Given the description of an element on the screen output the (x, y) to click on. 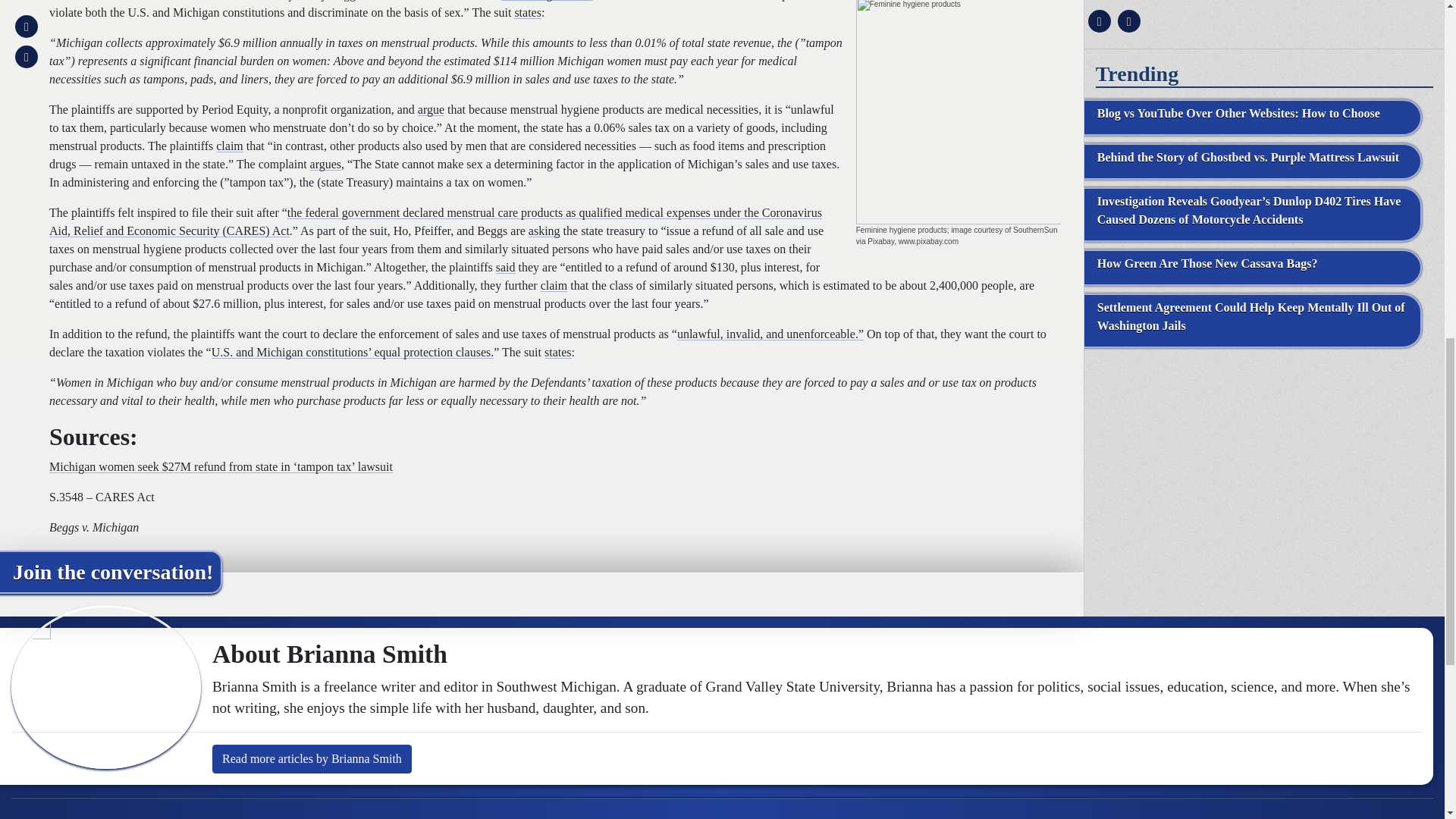
Read more articles by Brianna Smith (312, 758)
argue (430, 109)
asking (544, 230)
argues (325, 164)
claim (229, 145)
states (558, 351)
states (527, 11)
claim (553, 285)
said (505, 267)
